Given the description of an element on the screen output the (x, y) to click on. 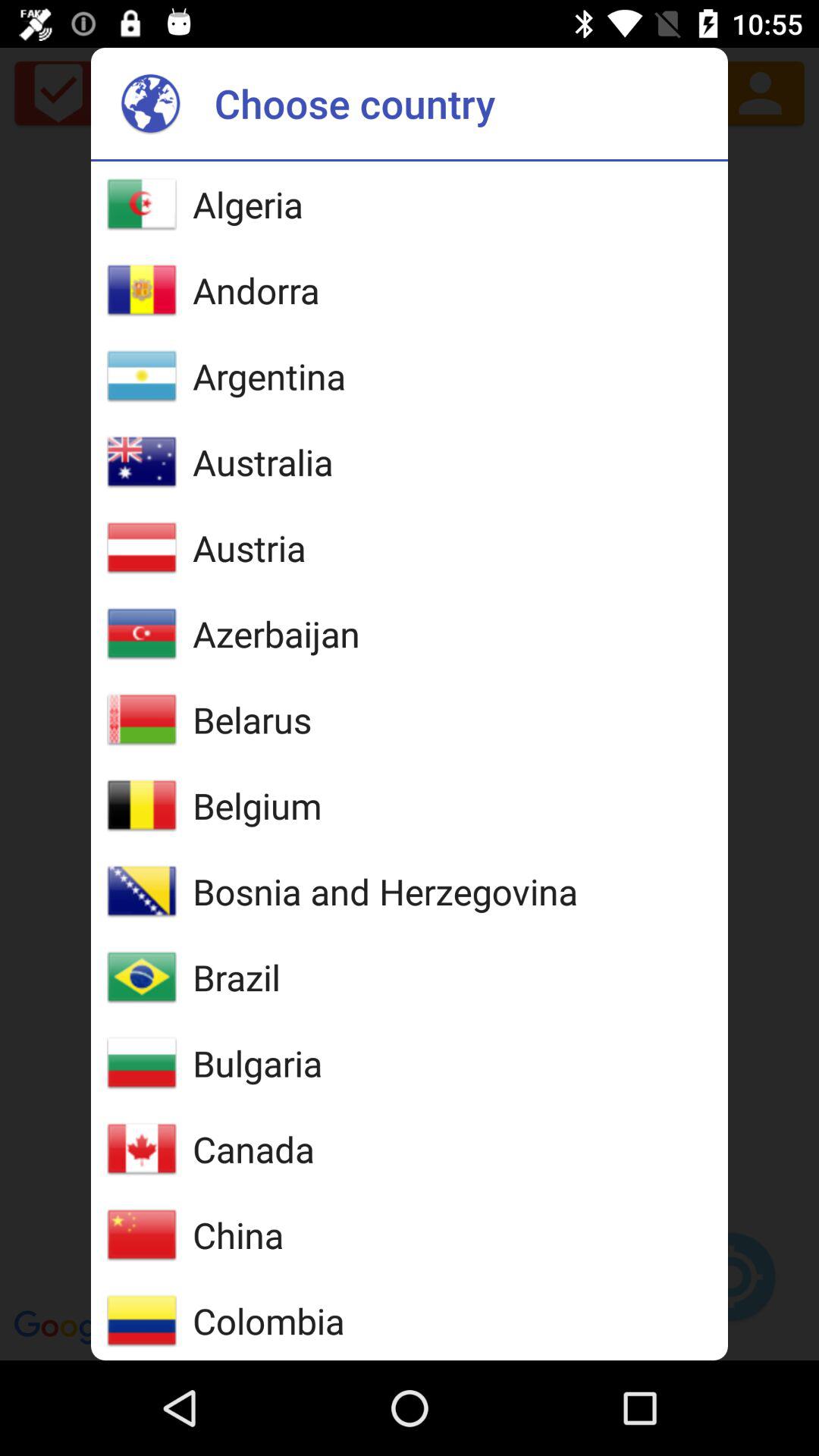
launch the item below the brazil icon (257, 1063)
